Given the description of an element on the screen output the (x, y) to click on. 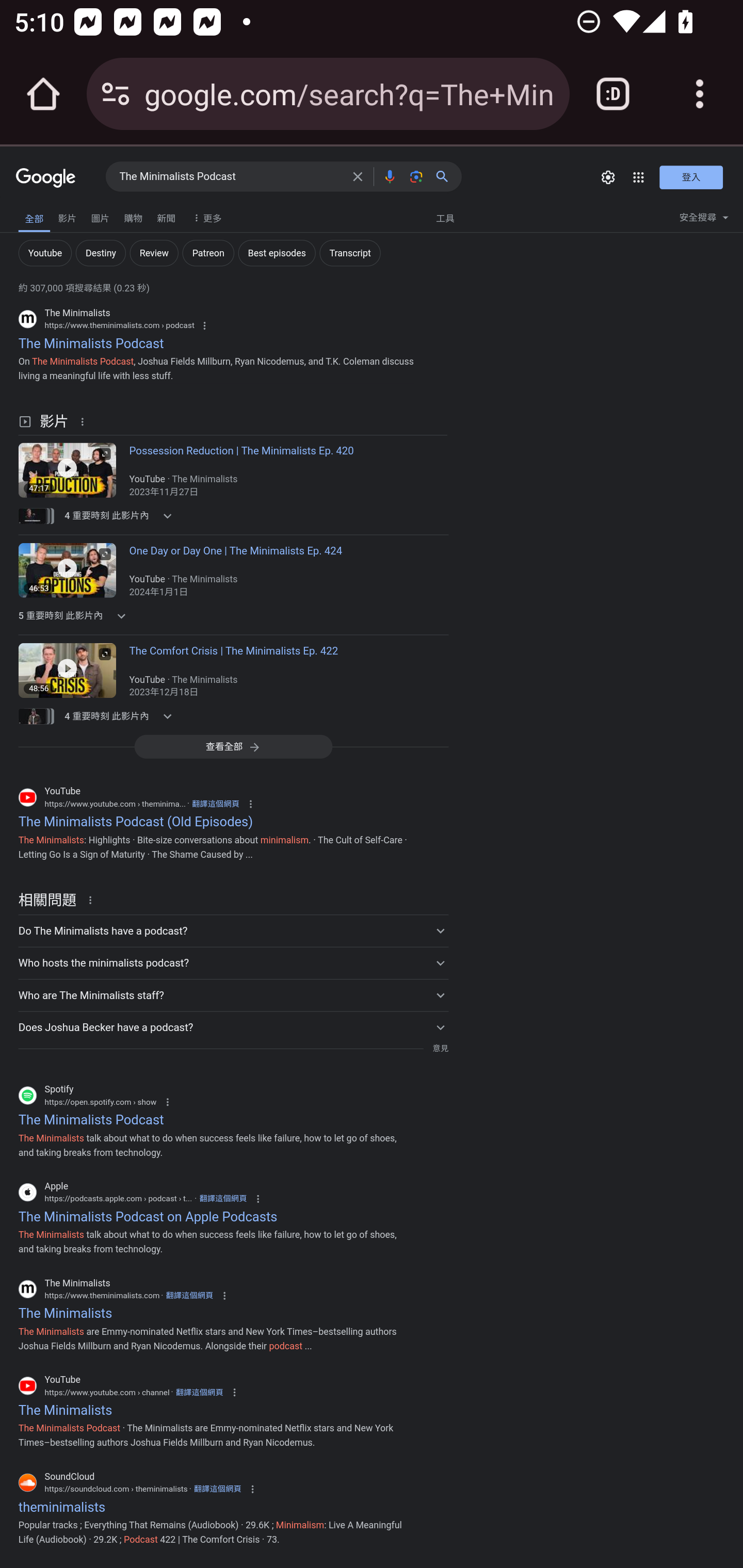
Open the home page (43, 93)
Connection is secure (115, 93)
Switch or close tabs (612, 93)
Customize and control Google Chrome (699, 93)
 清除 (357, 176)
語音搜尋 (389, 176)
以圖搜尋 (415, 176)
搜尋  (446, 176)
設定 (608, 176)
Google 應用程式 (638, 176)
登入 (690, 176)
Google (45, 178)
The Minimalists Podcast (229, 177)
無障礙功能意見 (42, 212)
影片 (67, 216)
圖片 (99, 216)
購物 (133, 216)
新聞 (166, 216)
更多 (205, 216)
安全搜尋 (703, 219)
工具 (444, 216)
新增Youtube Youtube (44, 252)
新增Destiny Destiny (100, 252)
新增Review Review (153, 252)
新增Patreon Patreon (207, 252)
新增Best episodes Best episodes (276, 252)
新增Transcript Transcript (349, 252)
關於此結果 (85, 420)
4 重要時刻  此影片內 (123, 515)
5 重要時刻  此影片內 (123, 616)
4 重要時刻  此影片內 (123, 716)
查看全部 (233, 745)
翻譯這個網頁 (214, 804)
關於此結果 (93, 899)
Do The Minimalists have a podcast? (232, 930)
Who hosts the minimalists podcast? (232, 962)
Who are The Minimalists staff? (232, 994)
Does Joshua Becker have a podcast? (232, 1026)
意見 (439, 1047)
翻譯這個網頁 (223, 1198)
翻譯這個網頁 (188, 1294)
翻譯這個網頁 (199, 1392)
翻譯這個網頁 (217, 1489)
